Given the description of an element on the screen output the (x, y) to click on. 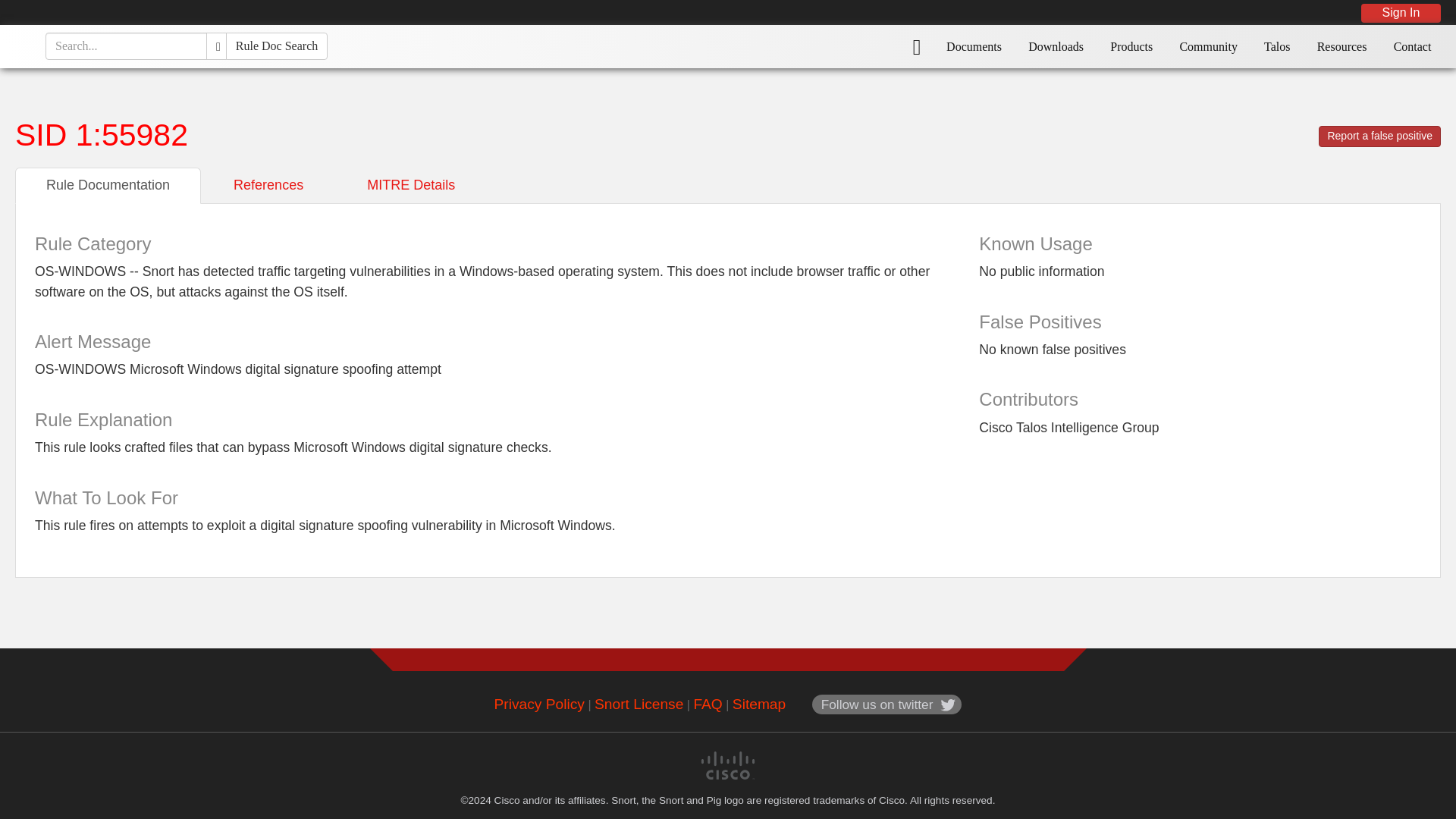
Contact (1412, 46)
References (268, 185)
Report a false positive (1380, 136)
Sign In (1401, 11)
Products (1131, 46)
Talos (1276, 46)
Documents (973, 46)
Community (1208, 46)
Rule Doc Search (276, 45)
Downloads (1055, 46)
Resources (1341, 46)
Rule Documentation (107, 185)
MITRE Details (411, 185)
